Given the description of an element on the screen output the (x, y) to click on. 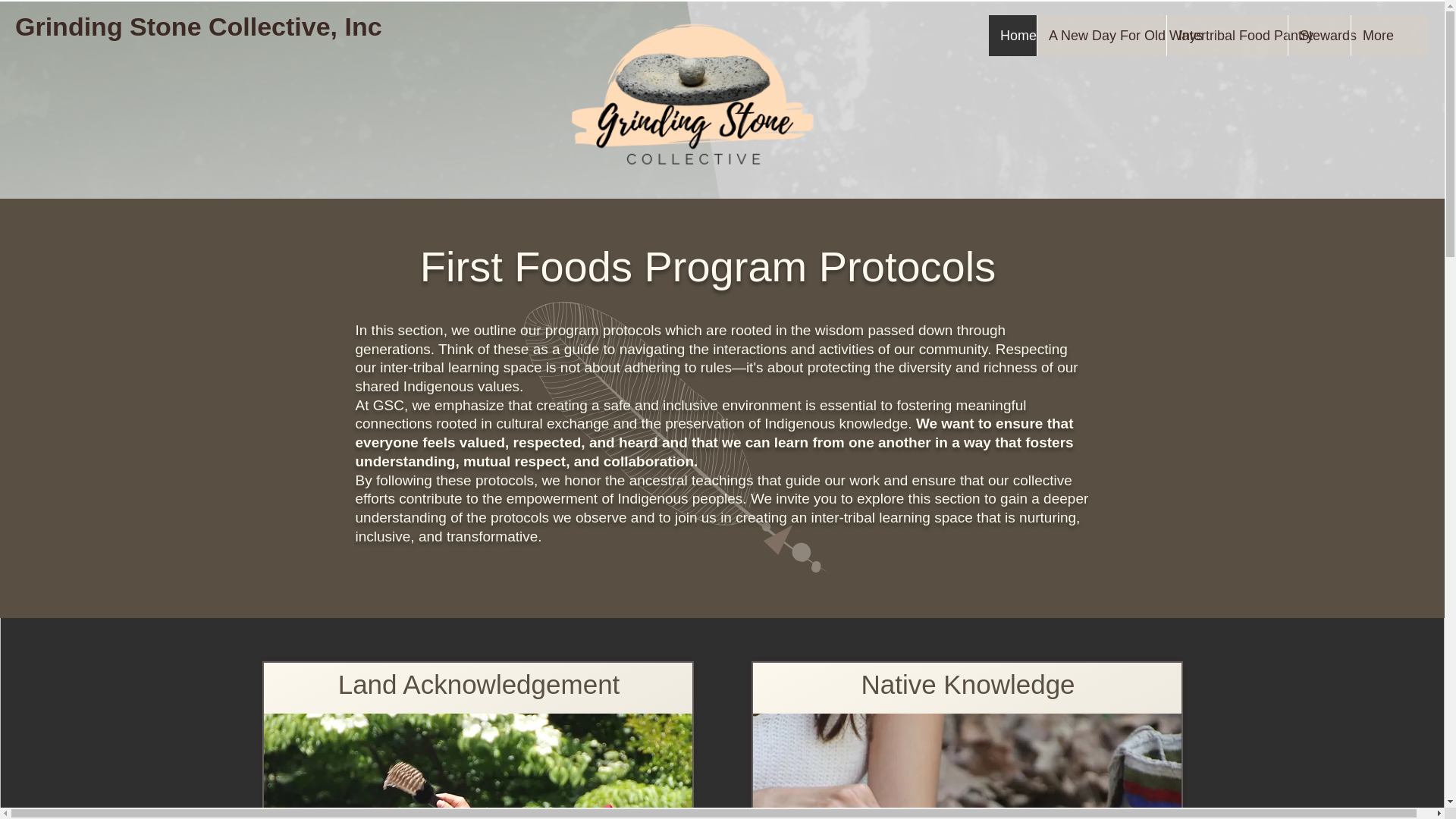
Intertribal Food Pantry (1226, 35)
Grinding Stone Collective, Inc (197, 27)
Stewards (1319, 35)
Home (1012, 35)
A New Day For Old Ways (1101, 35)
